Given the description of an element on the screen output the (x, y) to click on. 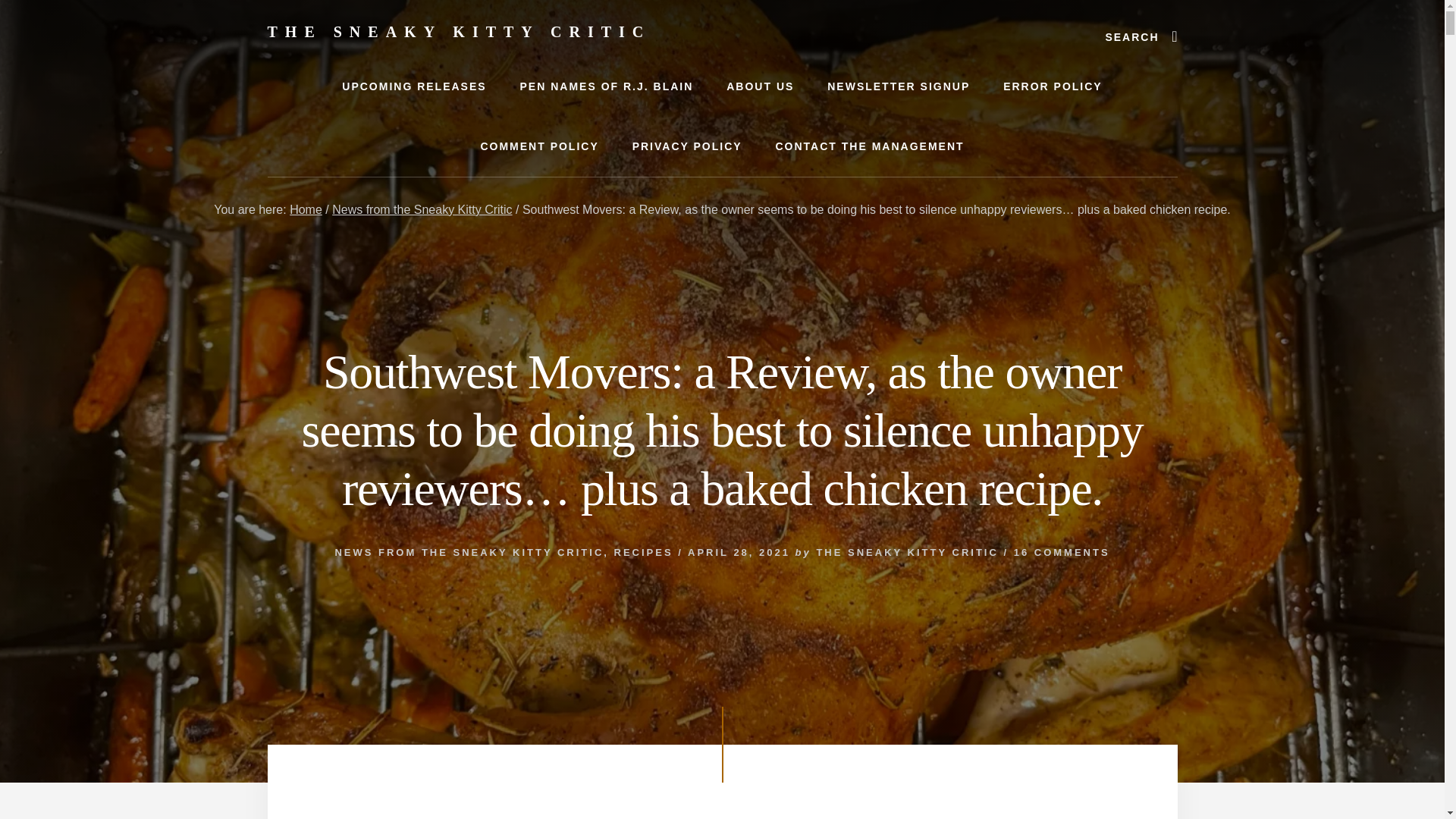
16 COMMENTS (1061, 552)
RECIPES (643, 552)
THE SNEAKY KITTY CRITIC (458, 31)
CONTACT THE MANAGEMENT (869, 146)
ABOUT US (760, 86)
News from the Sneaky Kitty Critic (421, 209)
